Given the description of an element on the screen output the (x, y) to click on. 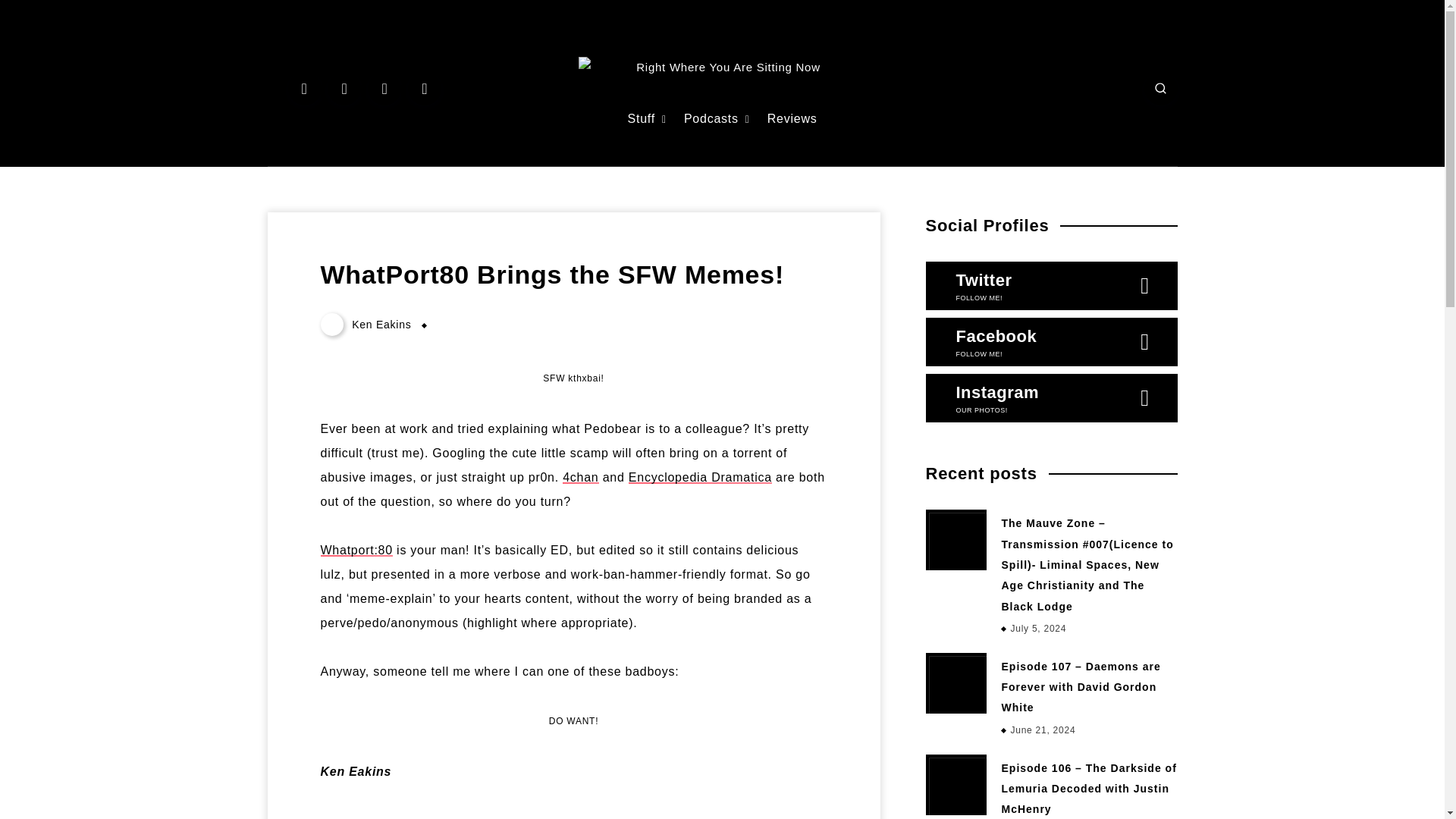
Whatport:80 (355, 549)
Reviews (791, 119)
Encyclopedia Dramatica (699, 477)
Author: Ken Eakins (367, 324)
Stuff (641, 119)
4chan (580, 477)
Ken Eakins (367, 324)
Podcasts (711, 119)
